Given the description of an element on the screen output the (x, y) to click on. 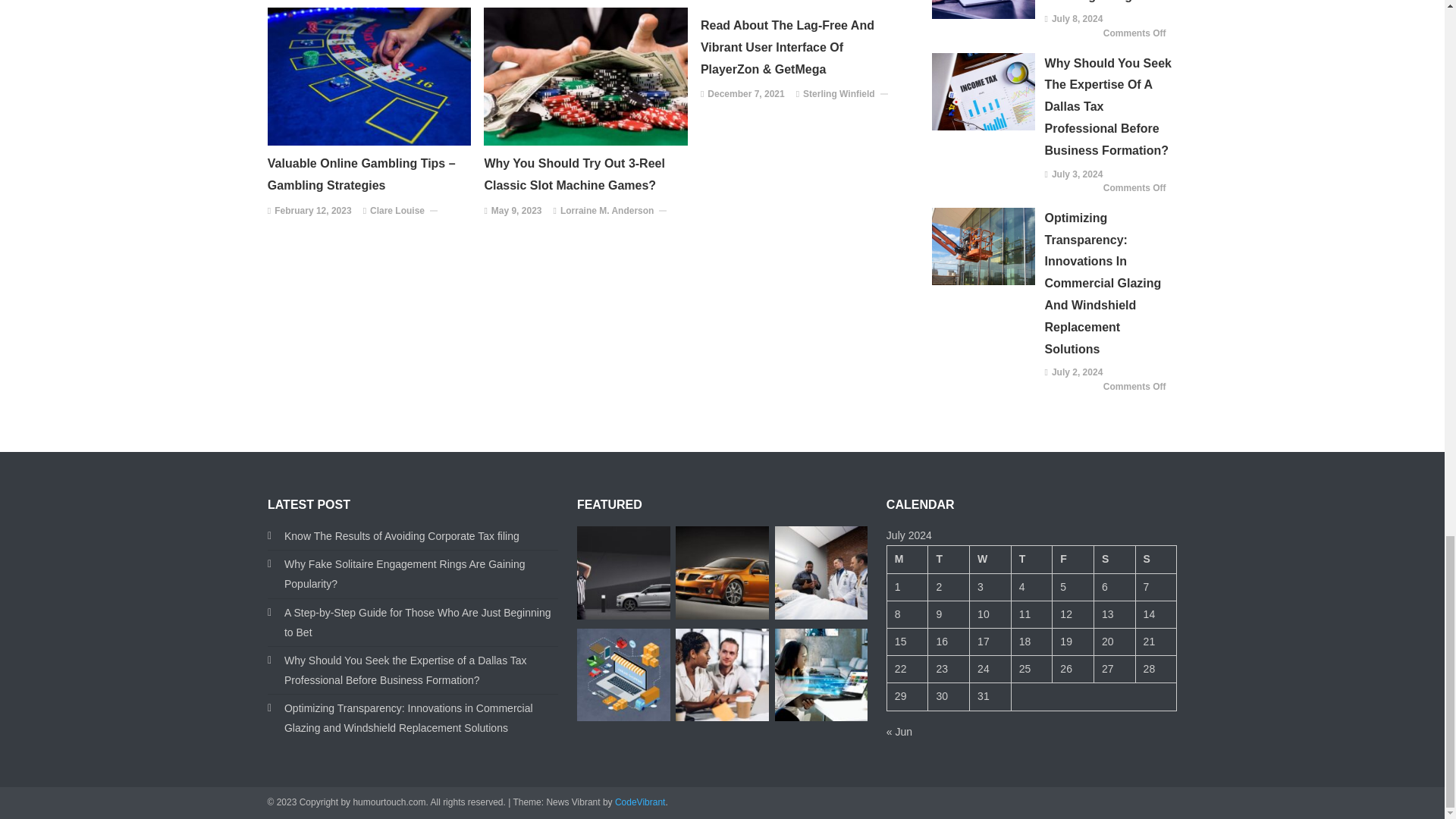
Friday (1073, 559)
Tuesday (948, 559)
Monday (907, 559)
Thursday (1031, 559)
Sunday (1155, 559)
Saturday (1114, 559)
Wednesday (990, 559)
